Given the description of an element on the screen output the (x, y) to click on. 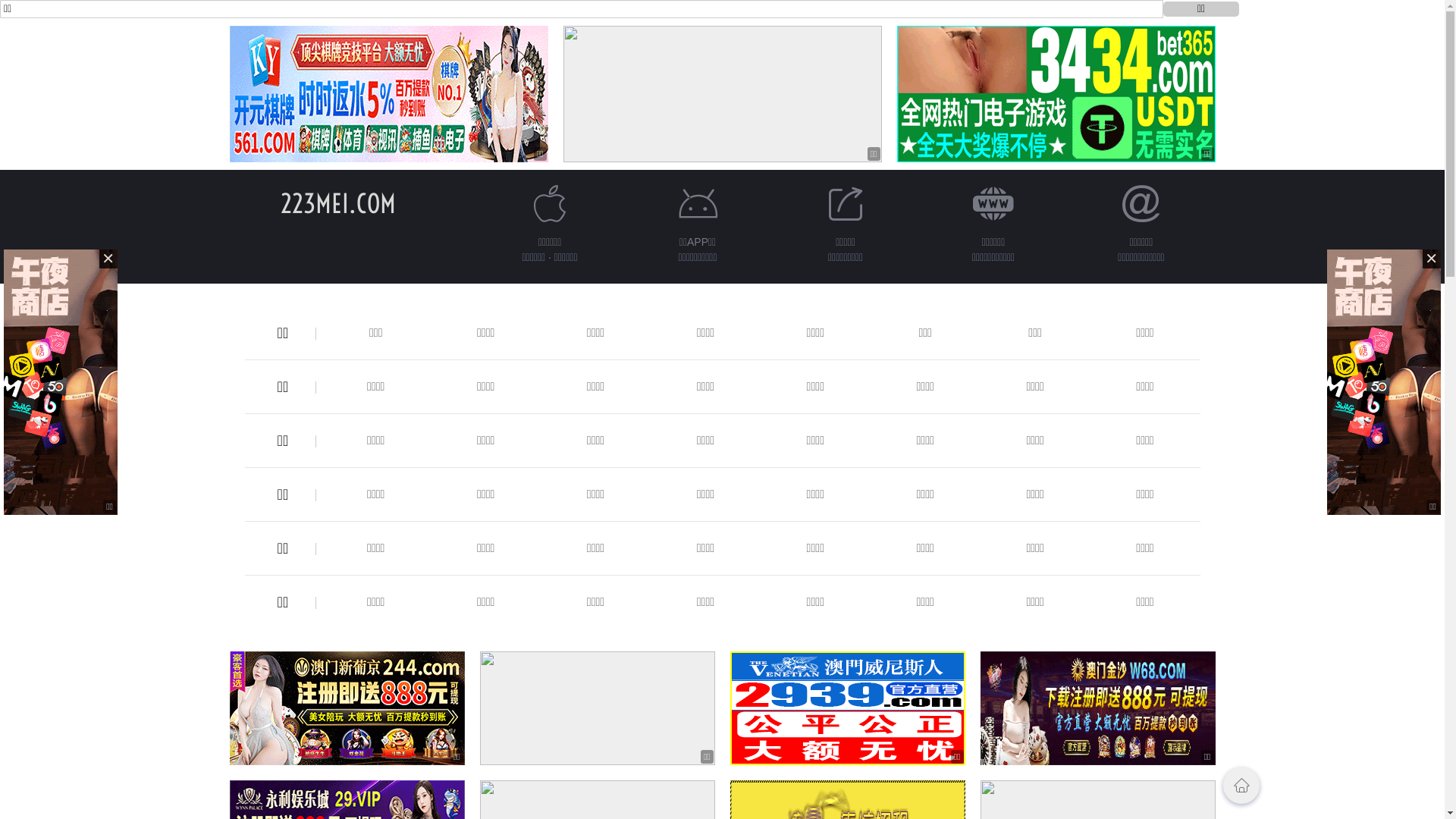
223MEI.COM Element type: text (337, 203)
